Given the description of an element on the screen output the (x, y) to click on. 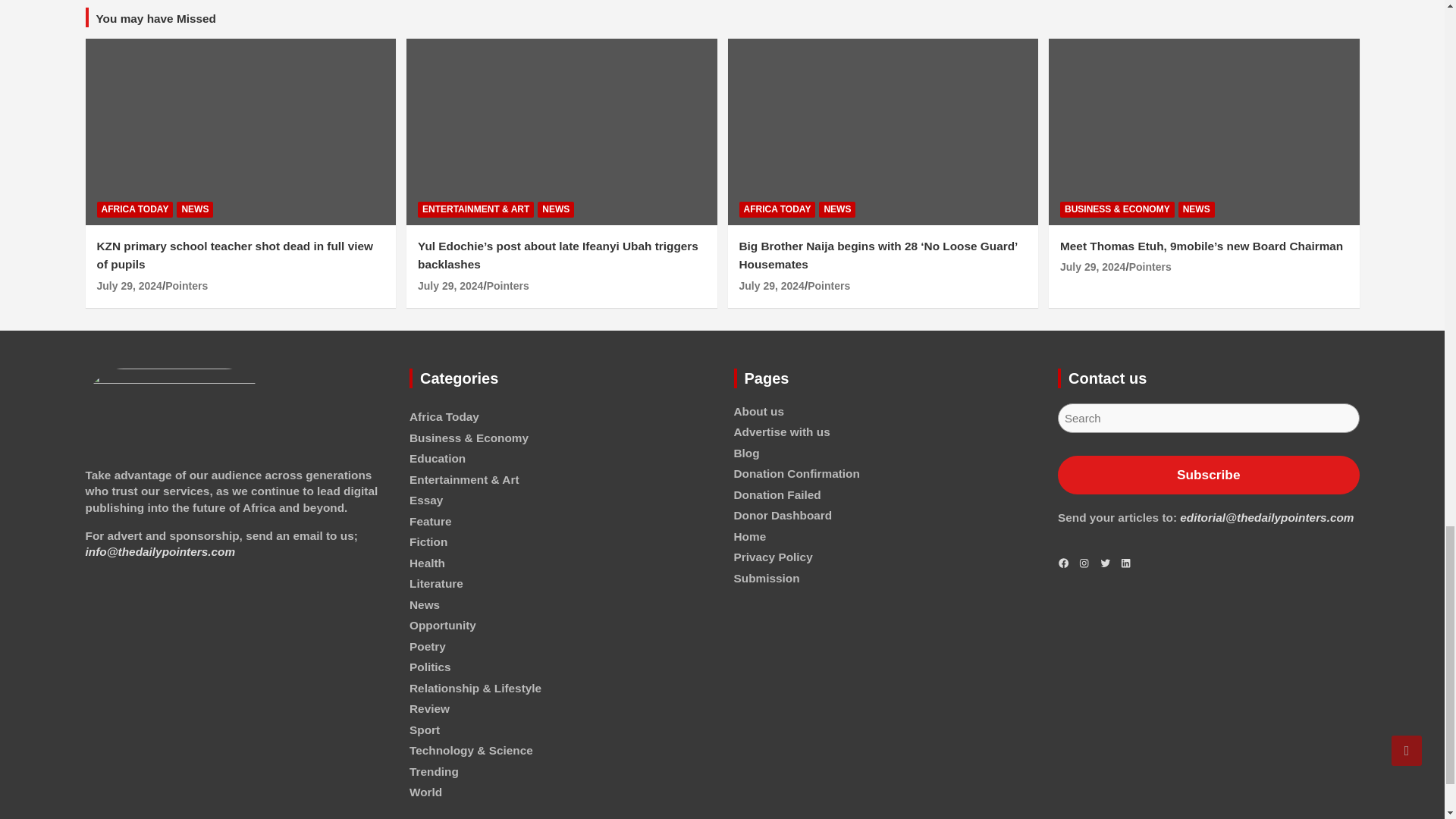
KZN primary school teacher shot dead in full view of pupils (129, 285)
